Given the description of an element on the screen output the (x, y) to click on. 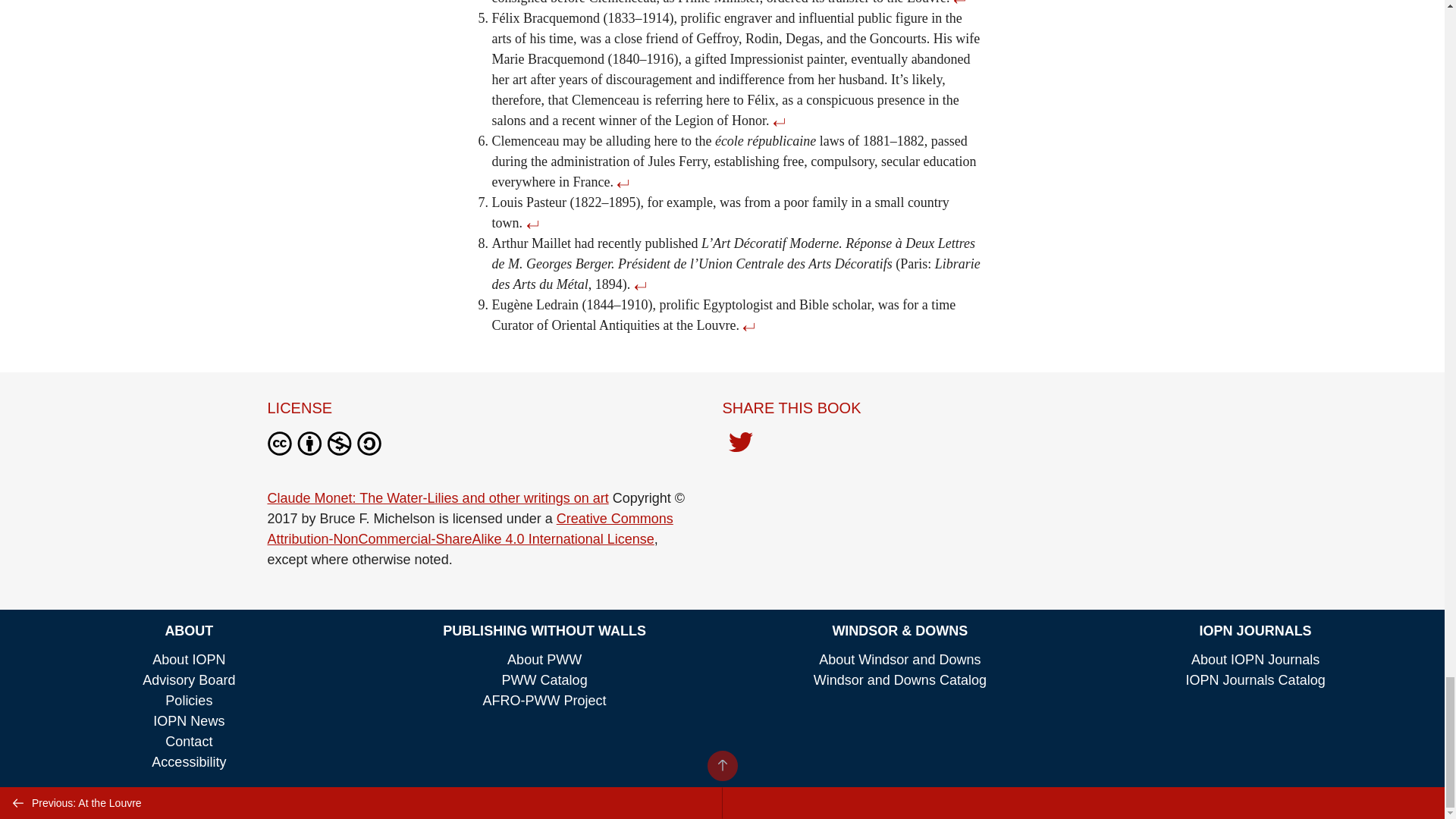
Contact (188, 741)
Share on Twitter (740, 446)
Claude Monet: The Water-Lilies and other writings on art (437, 498)
About PWW (543, 659)
IOPN News (188, 720)
Policies (188, 700)
About IOPN (188, 659)
Share on Twitter (740, 443)
Accessibility (188, 761)
Advisory Board (188, 679)
PWW Catalog (545, 679)
